Given the description of an element on the screen output the (x, y) to click on. 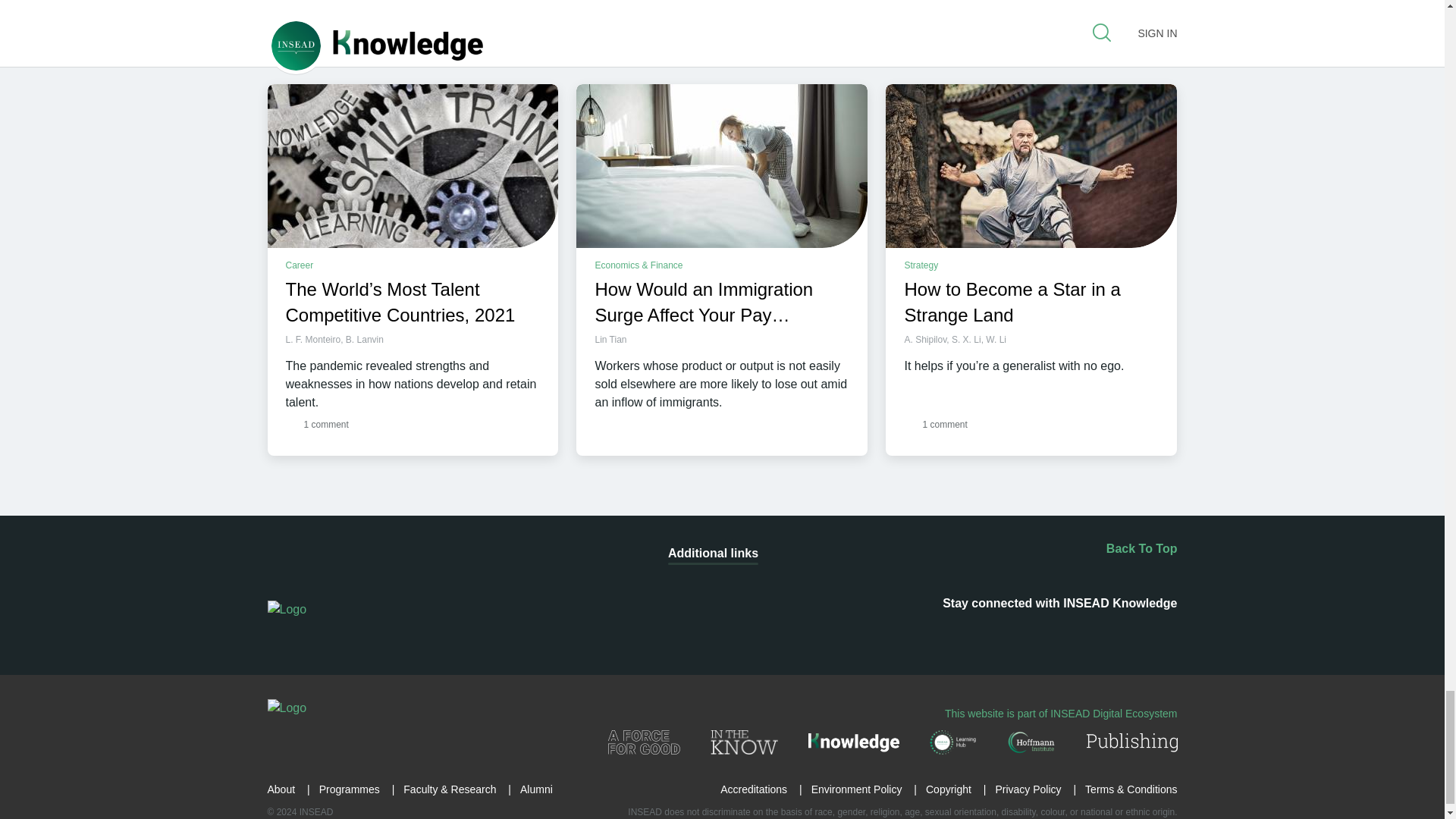
RSS (891, 632)
How to Become a Star in a Strange Land  (1030, 166)
How Would an Immigration Surge Affect Your Pay Cheque? (721, 166)
LinkedIn (936, 632)
